Given the description of an element on the screen output the (x, y) to click on. 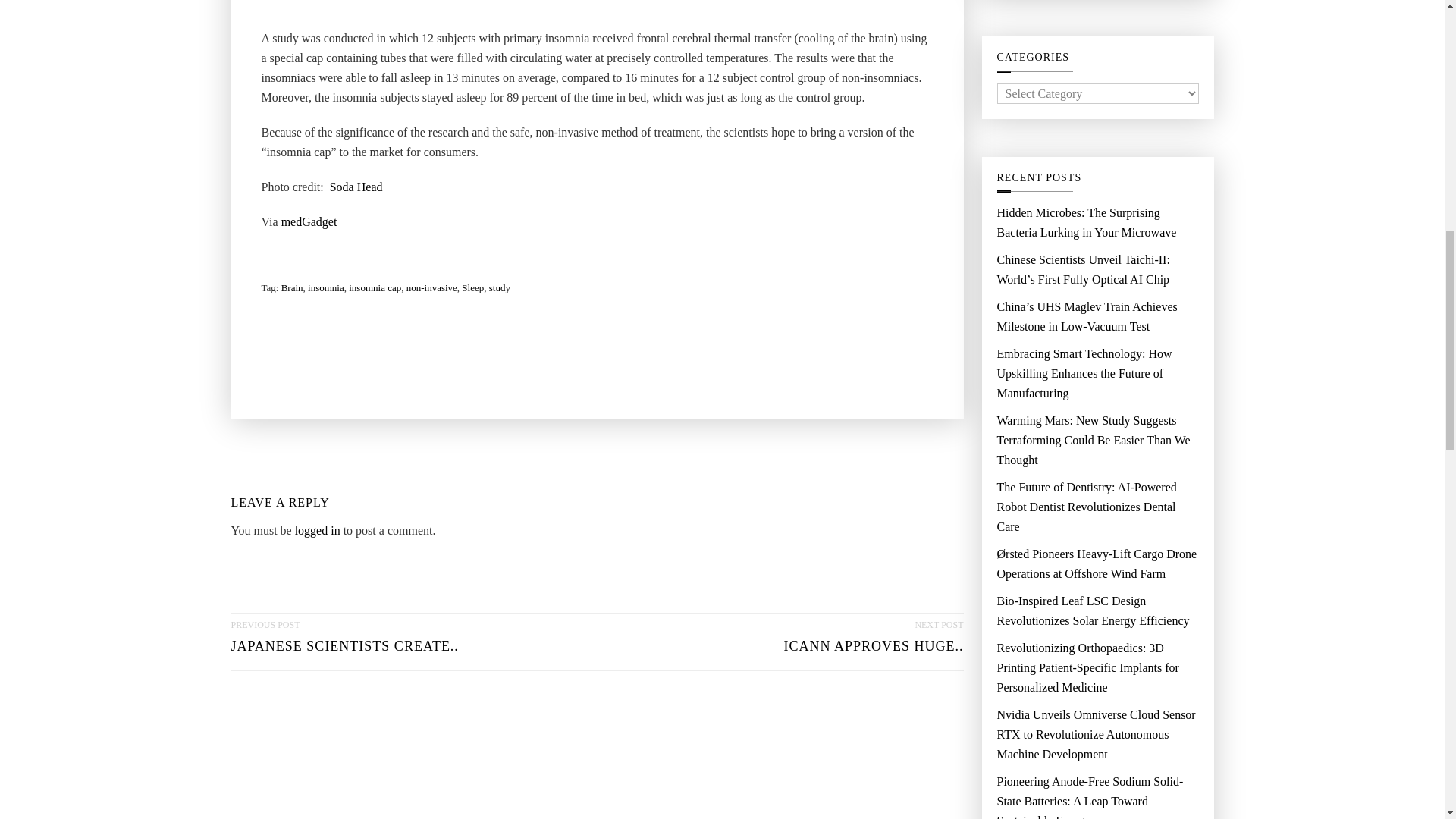
Sleep (472, 288)
insomnia (325, 288)
medGadget (309, 221)
logged in (872, 642)
Soda Head (317, 530)
Brain (344, 642)
insomnia cap (356, 187)
